Given the description of an element on the screen output the (x, y) to click on. 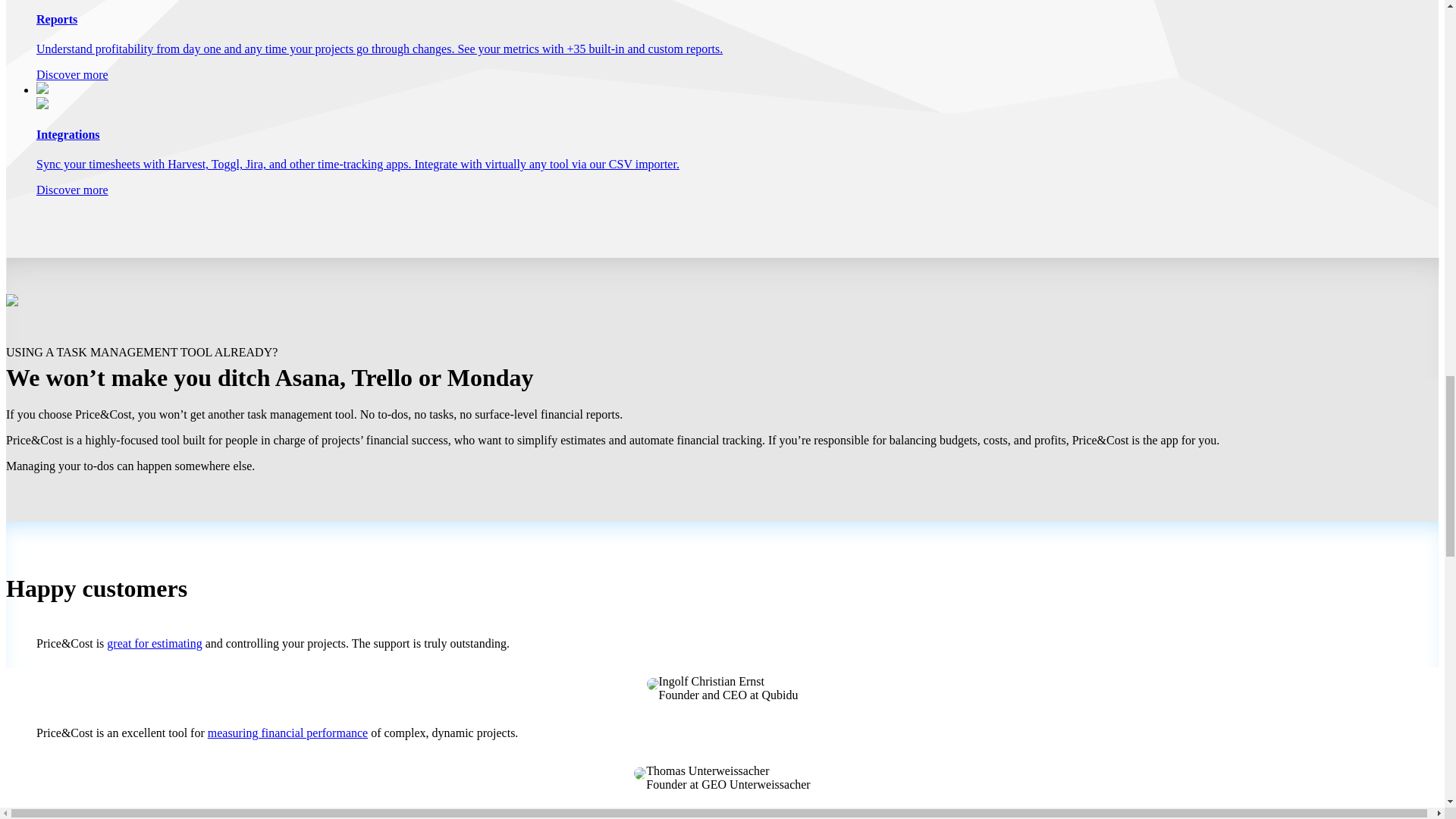
Discover more (71, 74)
Discover more (71, 189)
